Given the description of an element on the screen output the (x, y) to click on. 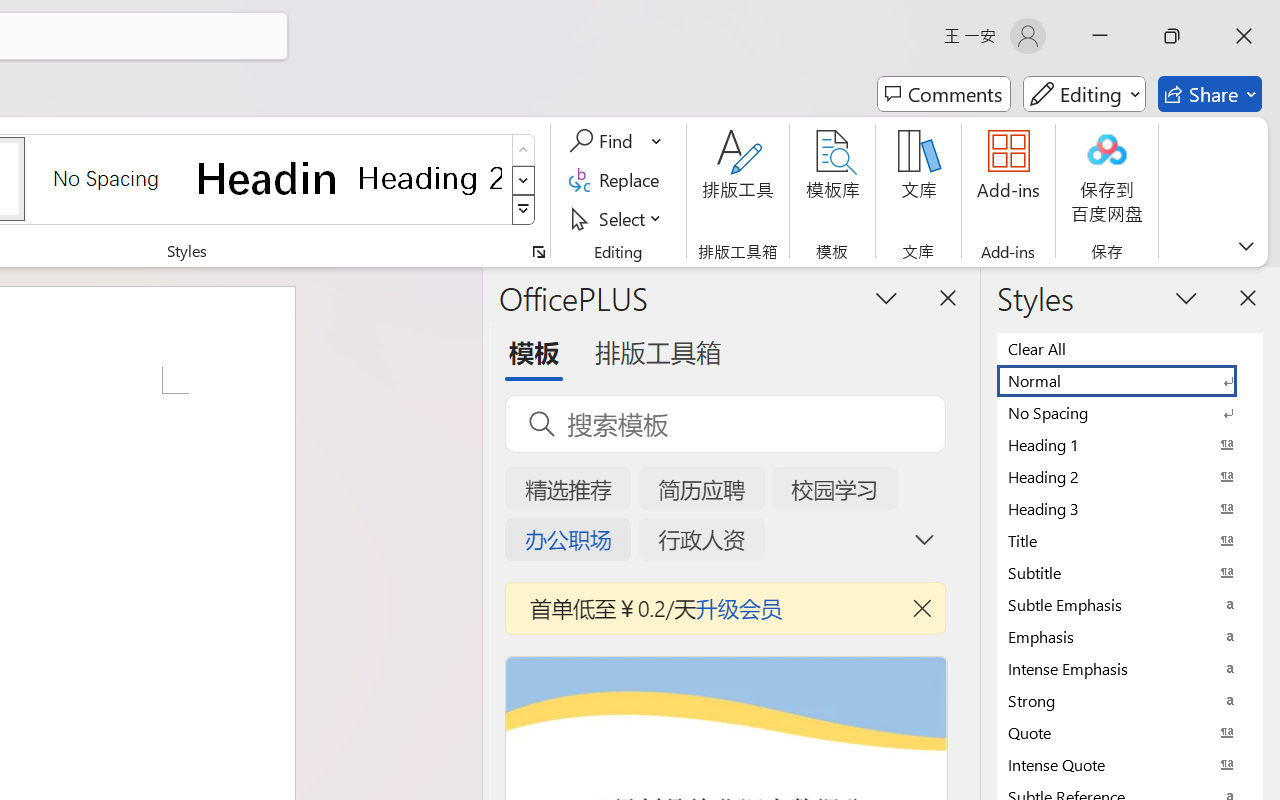
Find (604, 141)
Minimize (1099, 36)
Normal (1130, 380)
